Given the description of an element on the screen output the (x, y) to click on. 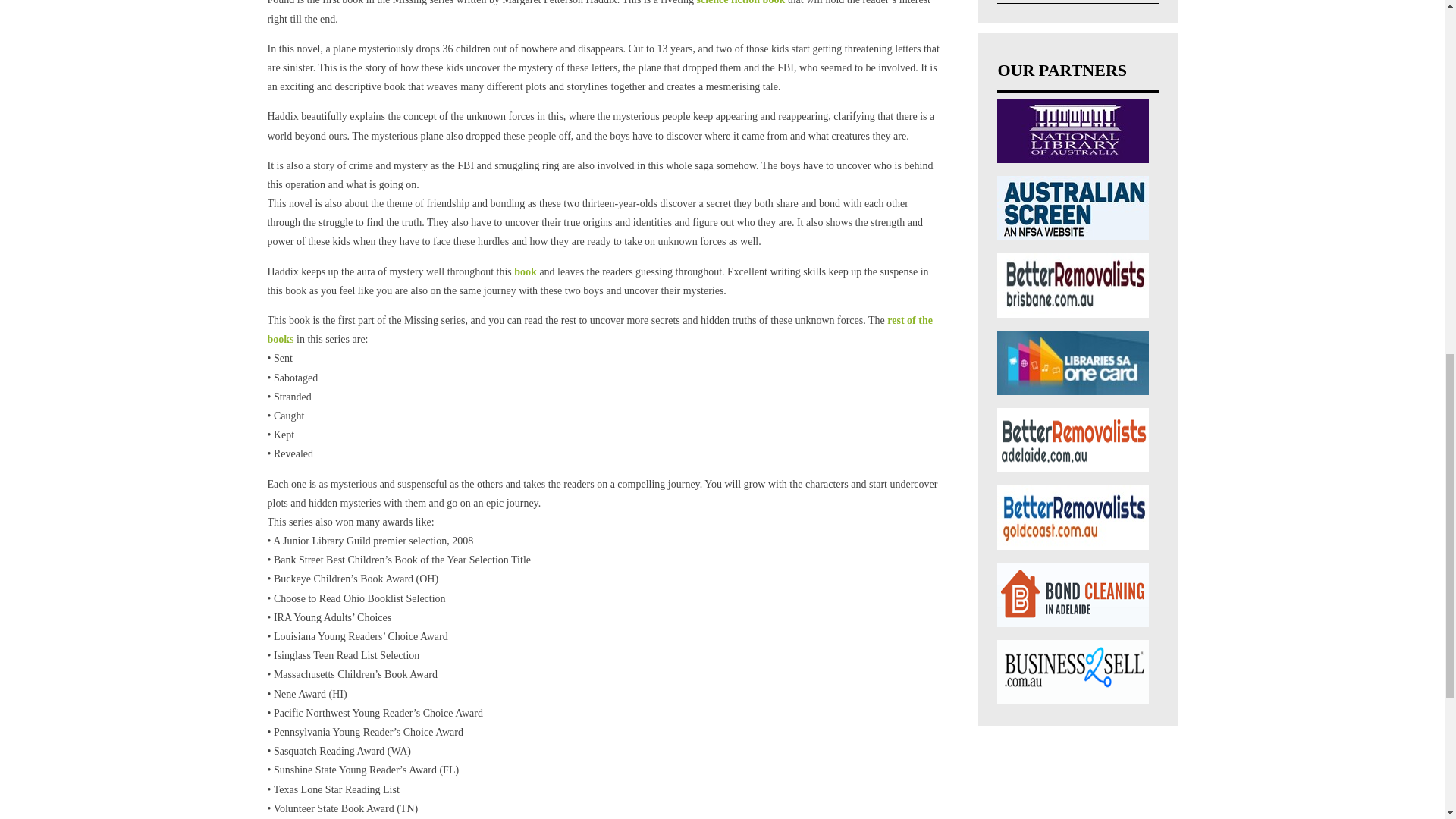
Expert Removalists Gold Coast, QLD (1072, 517)
End of Lease Cleaning Adelaide (1072, 594)
NLA (1072, 130)
science fiction book (741, 2)
Removalists Brisbane, QLD (1072, 285)
rest of the books (598, 329)
Business for Sale Adelaide (1072, 671)
Best Removalists Adelaide (1072, 439)
sapubliclibraries (1072, 362)
book (525, 271)
